Given the description of an element on the screen output the (x, y) to click on. 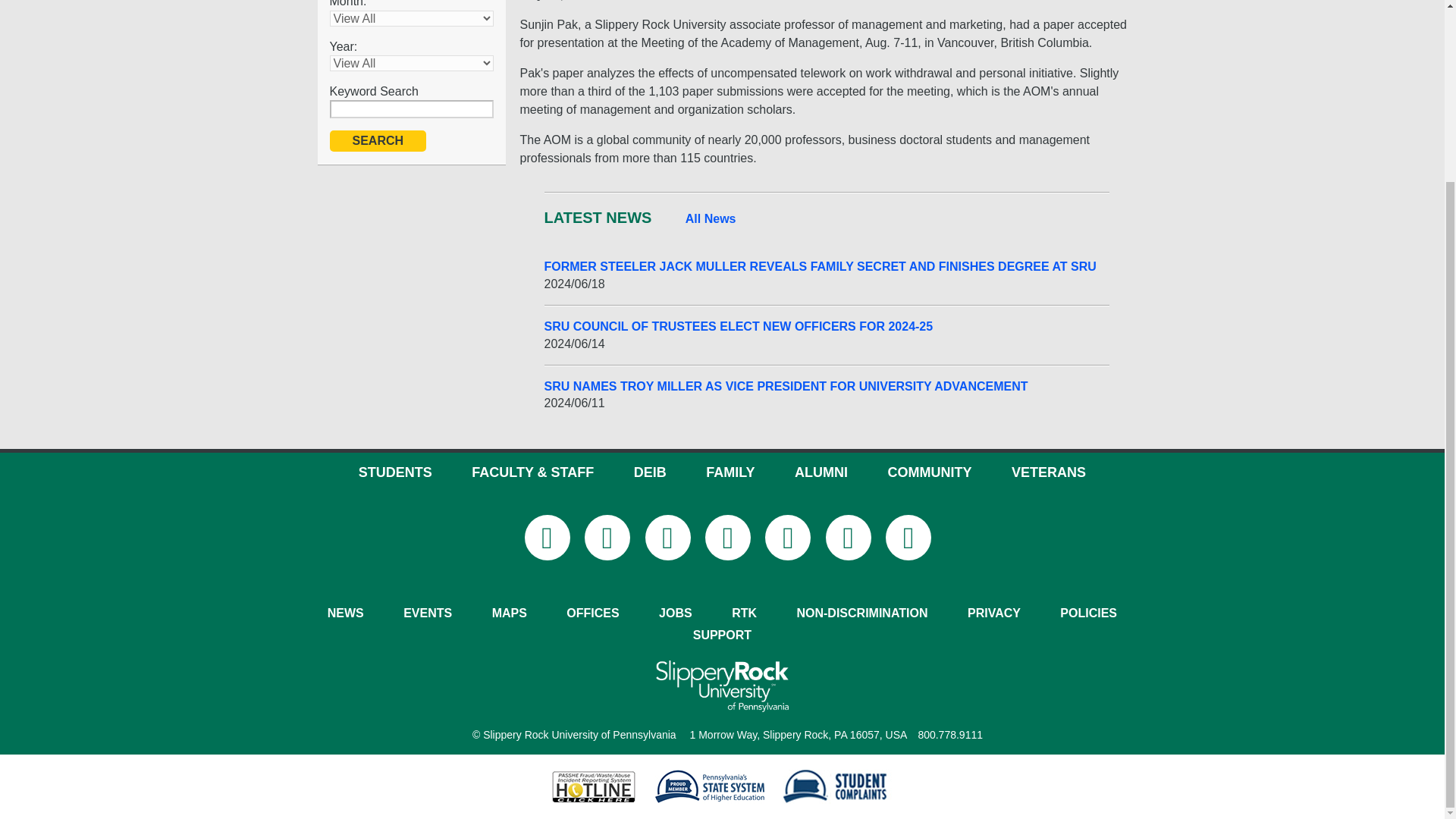
DEIB (649, 472)
COMMUNITY (928, 472)
All News (710, 218)
Search (377, 140)
SRU COUNCIL OF TRUSTEES ELECT NEW OFFICERS FOR 2024-25 (826, 326)
FAMILY (730, 472)
Search (377, 140)
VETERANS (1048, 472)
STUDENTS (395, 472)
ALUMNI (820, 472)
